Given the description of an element on the screen output the (x, y) to click on. 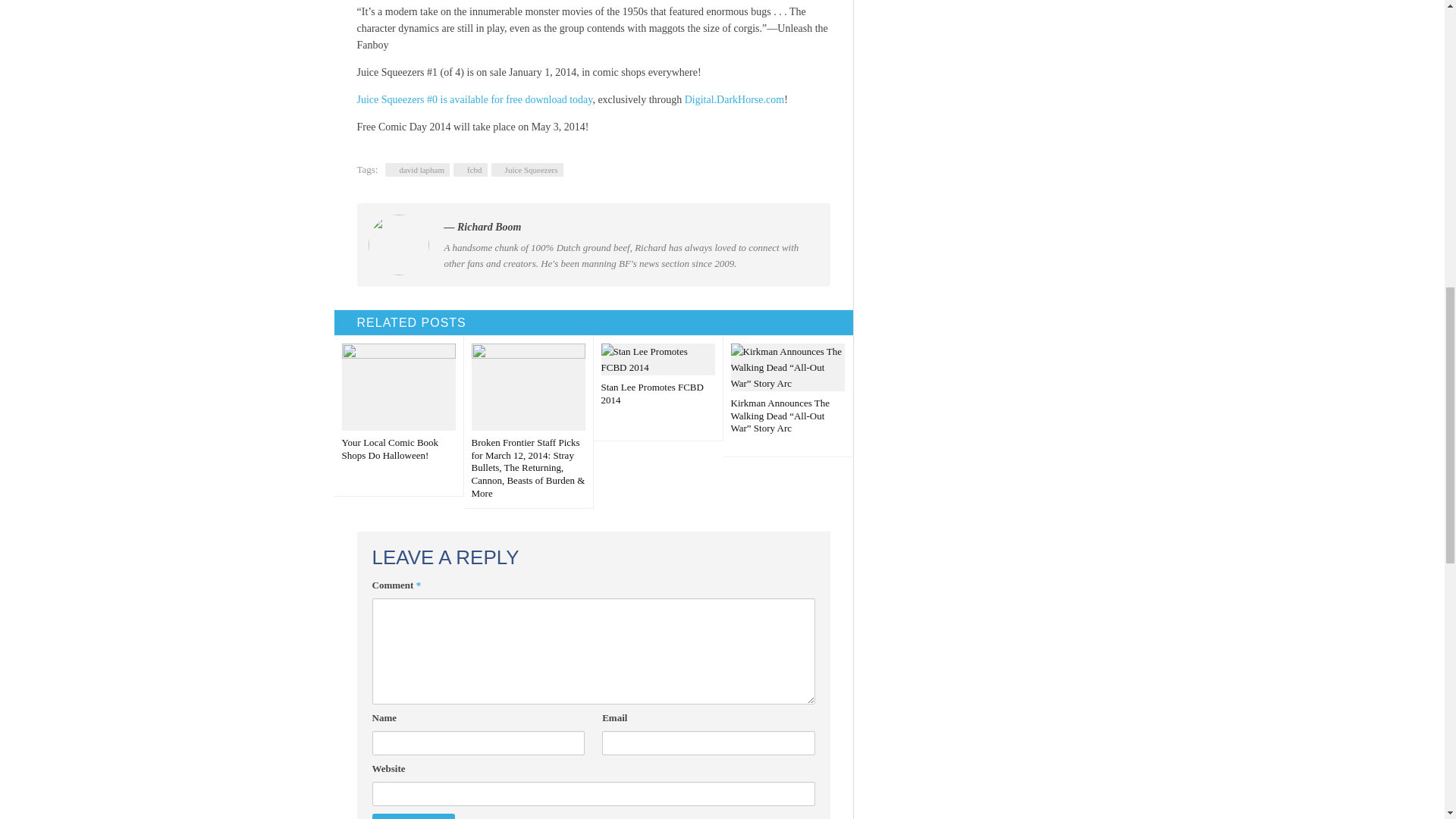
Stan Lee Promotes FCBD 2014 (656, 388)
Post Comment (412, 816)
david lapham (417, 169)
Post Comment (412, 816)
fcbd (469, 169)
Digital.DarkHorse.com (734, 99)
Juice Squeezers (527, 169)
